Given the description of an element on the screen output the (x, y) to click on. 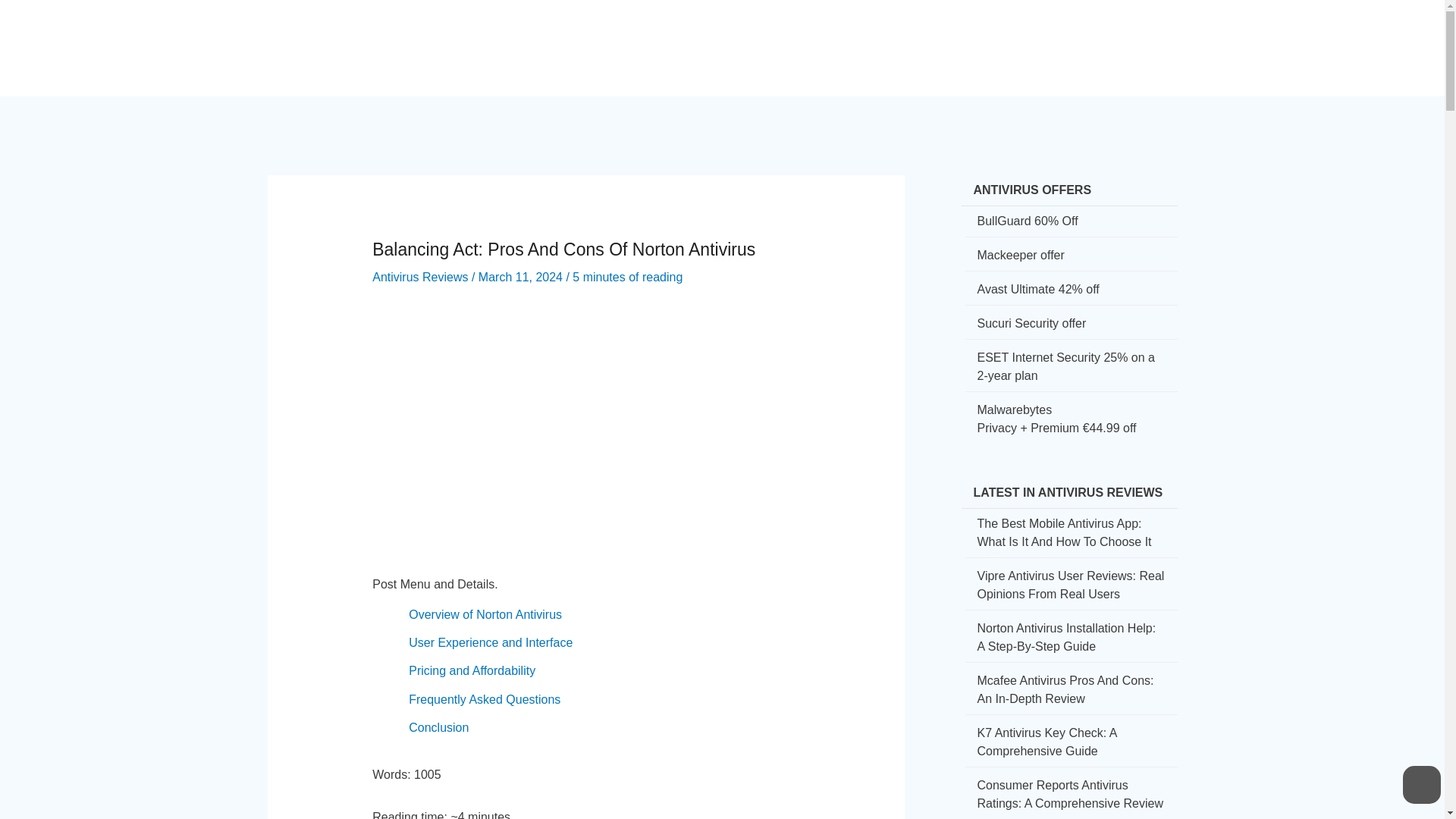
Finances (929, 35)
Gaming (999, 35)
10 Best (1064, 35)
Social (863, 35)
Cyber Security (713, 35)
Misc (1122, 35)
Antivirus Reviews (419, 277)
Overview of Norton Antivirus (485, 614)
Conclusion (438, 727)
Pricing and Affordability (472, 670)
How-To (802, 35)
Frequently Asked Questions (484, 698)
User Experience and Interface (490, 642)
